Given the description of an element on the screen output the (x, y) to click on. 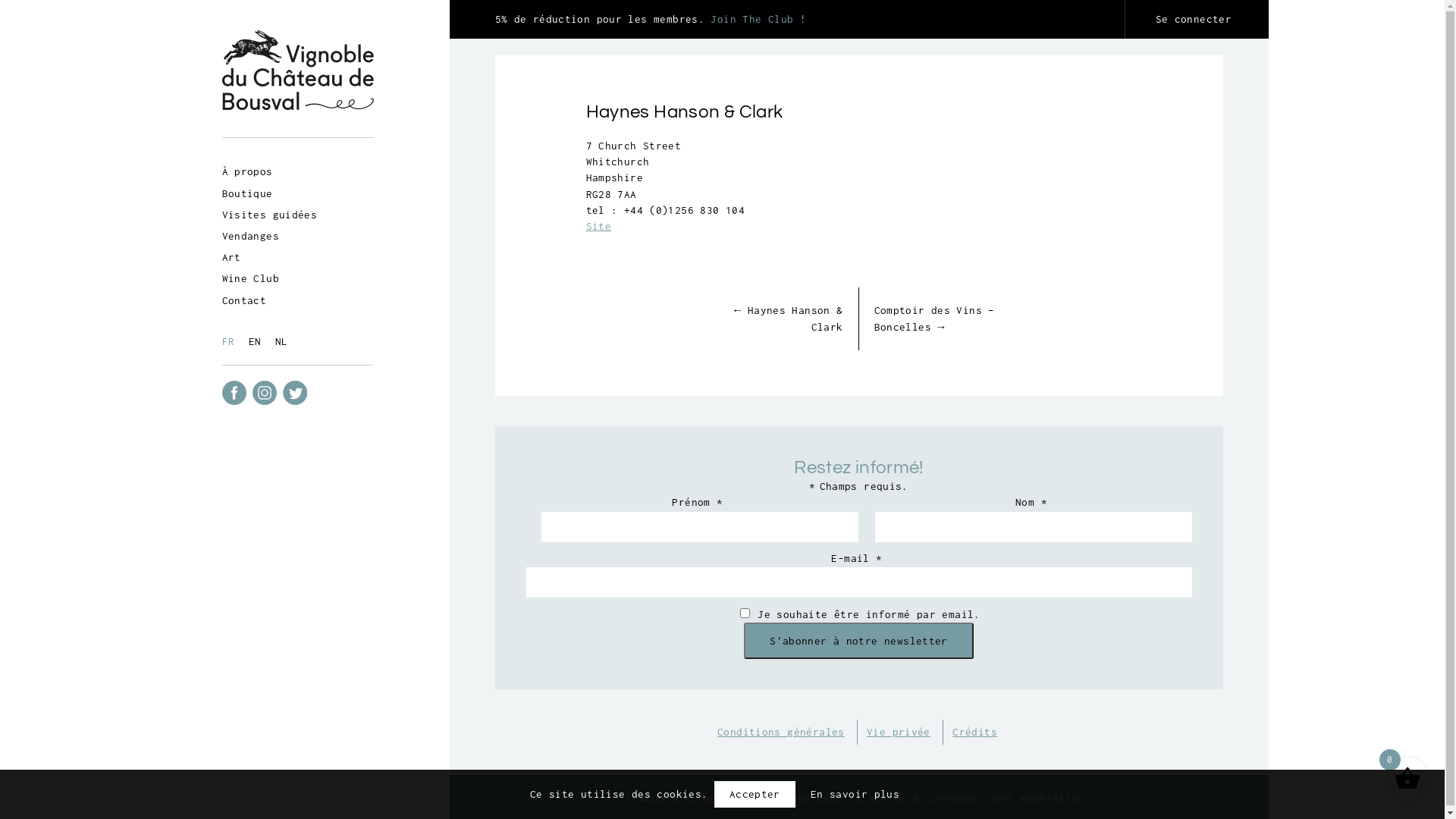
Se connecter Element type: text (1196, 19)
NL Element type: text (285, 341)
Boutique Element type: text (248, 192)
EN Element type: text (258, 341)
FR Element type: text (231, 341)
Art Element type: text (232, 256)
Vendanges Element type: text (251, 235)
En savoir plus Element type: text (854, 794)
WEW Element type: text (297, 445)
Contact Element type: text (245, 299)
Wine Club Element type: text (251, 277)
Join The Club ! Element type: text (758, 18)
Accepter Element type: text (754, 794)
Site Element type: text (598, 225)
